Given the description of an element on the screen output the (x, y) to click on. 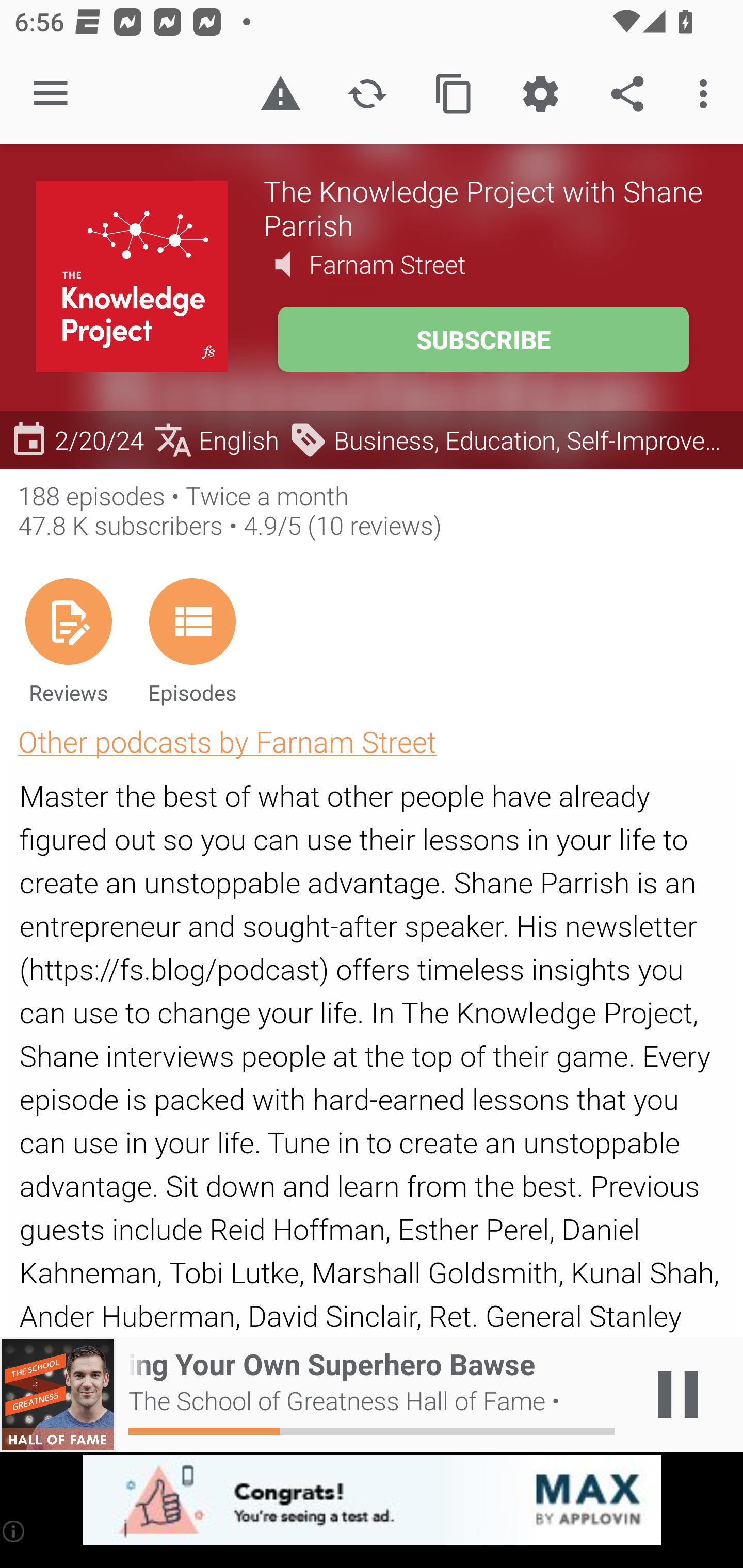
Open navigation sidebar (50, 93)
Report inappropriate content (280, 93)
Refresh podcast description (366, 93)
Copy feed url to clipboard (453, 93)
Custom Settings (540, 93)
Share the podcast (626, 93)
More options (706, 93)
The Knowledge Project with Shane Parrish (484, 207)
Farnam Street (387, 263)
SUBSCRIBE (482, 339)
Business, Education, Self-Improvement (511, 439)
Reviews (68, 640)
Episodes (192, 640)
Other podcasts by Farnam Street (226, 740)
Play / Pause (677, 1394)
app-monetization (371, 1500)
(i) (14, 1531)
